Given the description of an element on the screen output the (x, y) to click on. 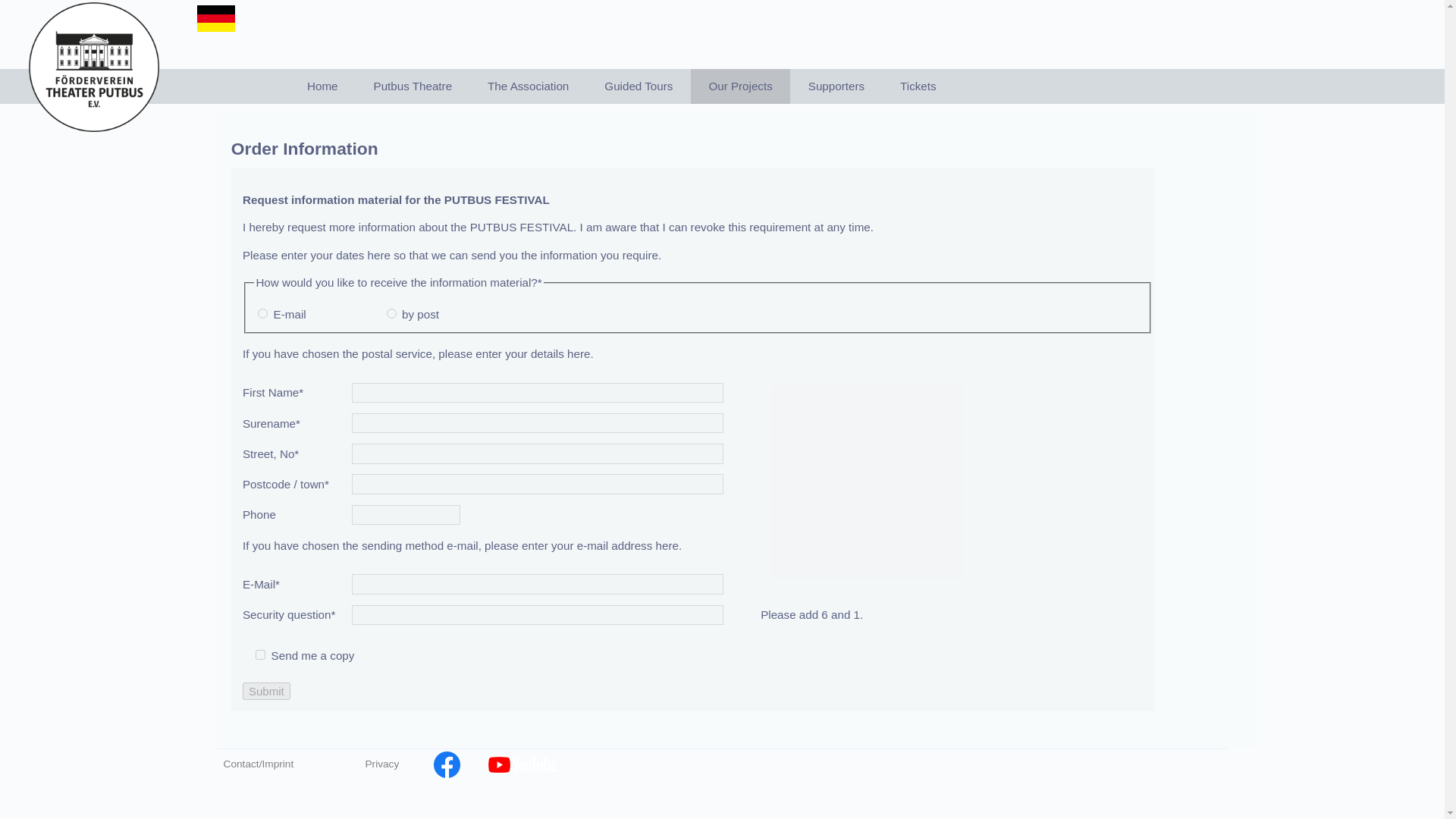
Privacy (397, 764)
Our Projects (740, 86)
The Association (527, 86)
Guided Tours (638, 86)
Our Projects (740, 86)
Submit (266, 691)
Home (322, 86)
E-mail (262, 313)
Putbus Theatre (412, 86)
by post (391, 313)
